Given the description of an element on the screen output the (x, y) to click on. 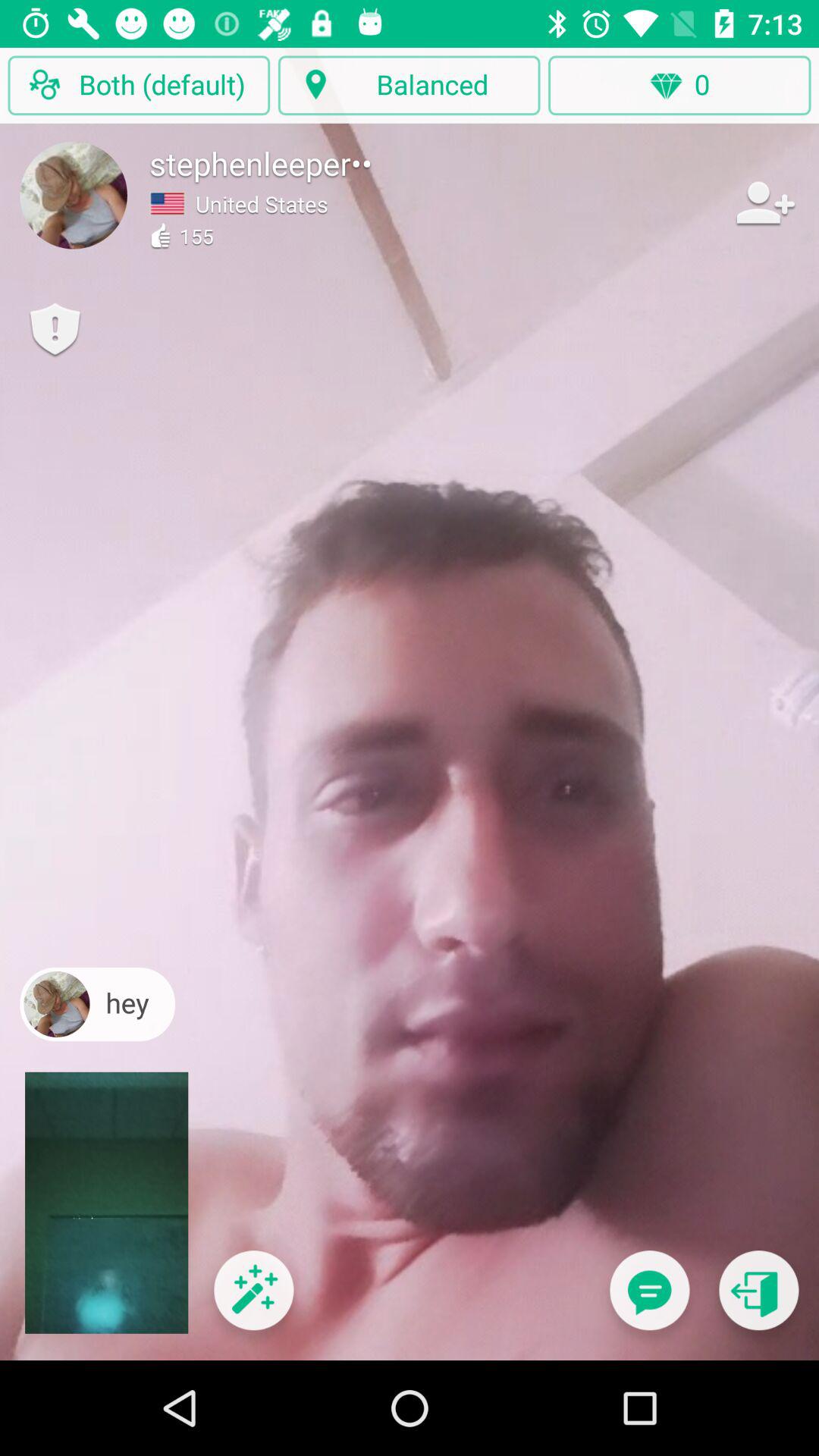
open profile button (73, 195)
